Given the description of an element on the screen output the (x, y) to click on. 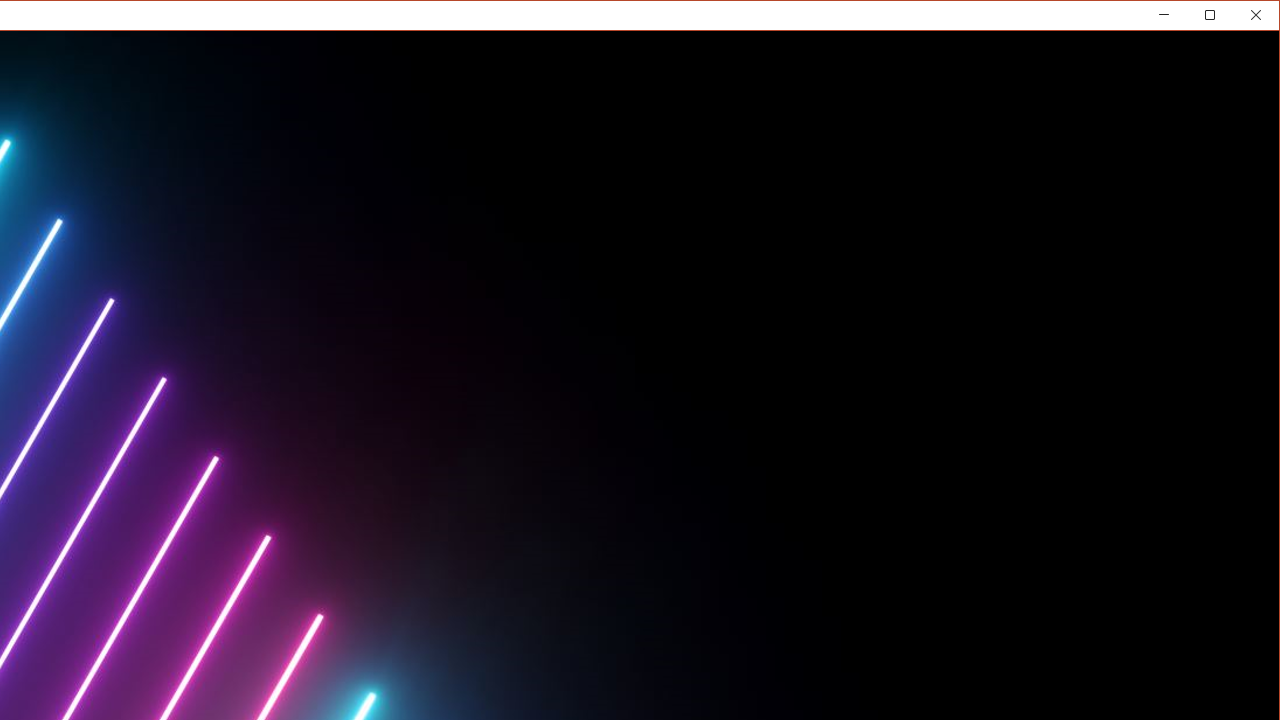
Maximize (1238, 18)
